Given the description of an element on the screen output the (x, y) to click on. 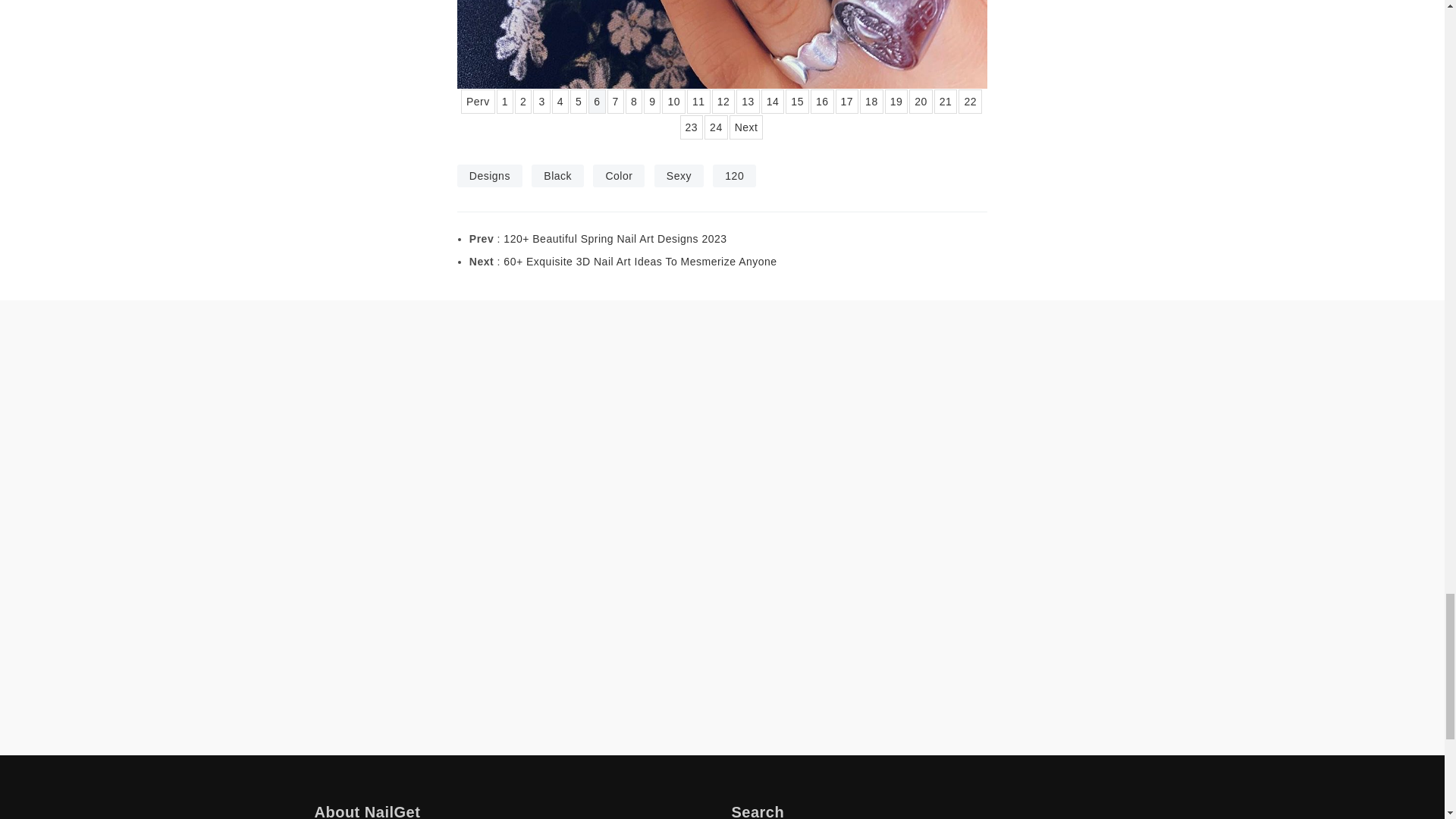
14 (772, 101)
10 (673, 101)
20 (920, 101)
23 (691, 127)
21 (946, 101)
Sexy (678, 175)
24 (716, 127)
Color (618, 175)
19 (896, 101)
Perv (478, 101)
